Given the description of an element on the screen output the (x, y) to click on. 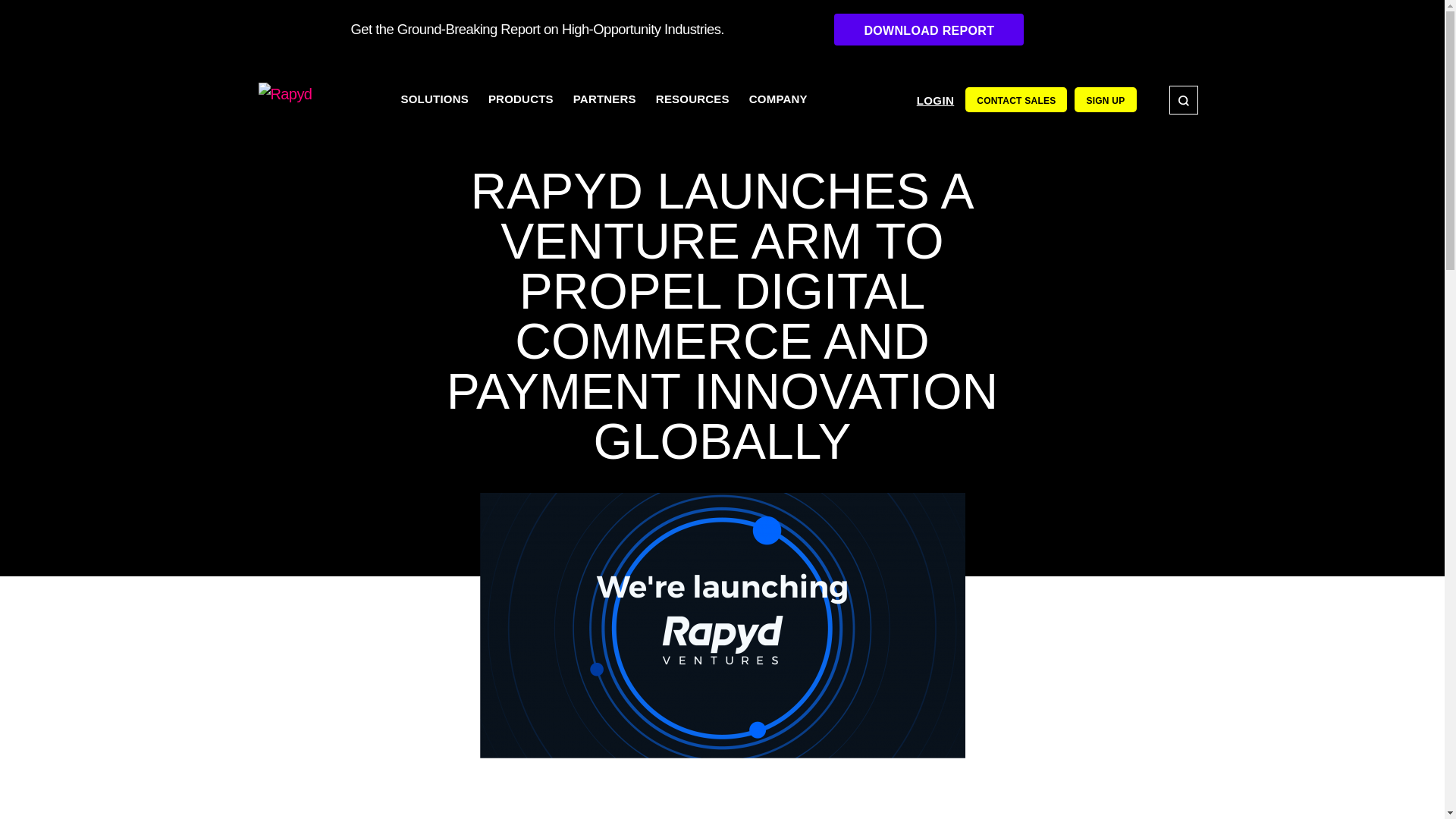
PARTNERS (604, 98)
SOLUTIONS (435, 98)
PRODUCTS (521, 98)
DOWNLOAD REPORT (928, 29)
